Given the description of an element on the screen output the (x, y) to click on. 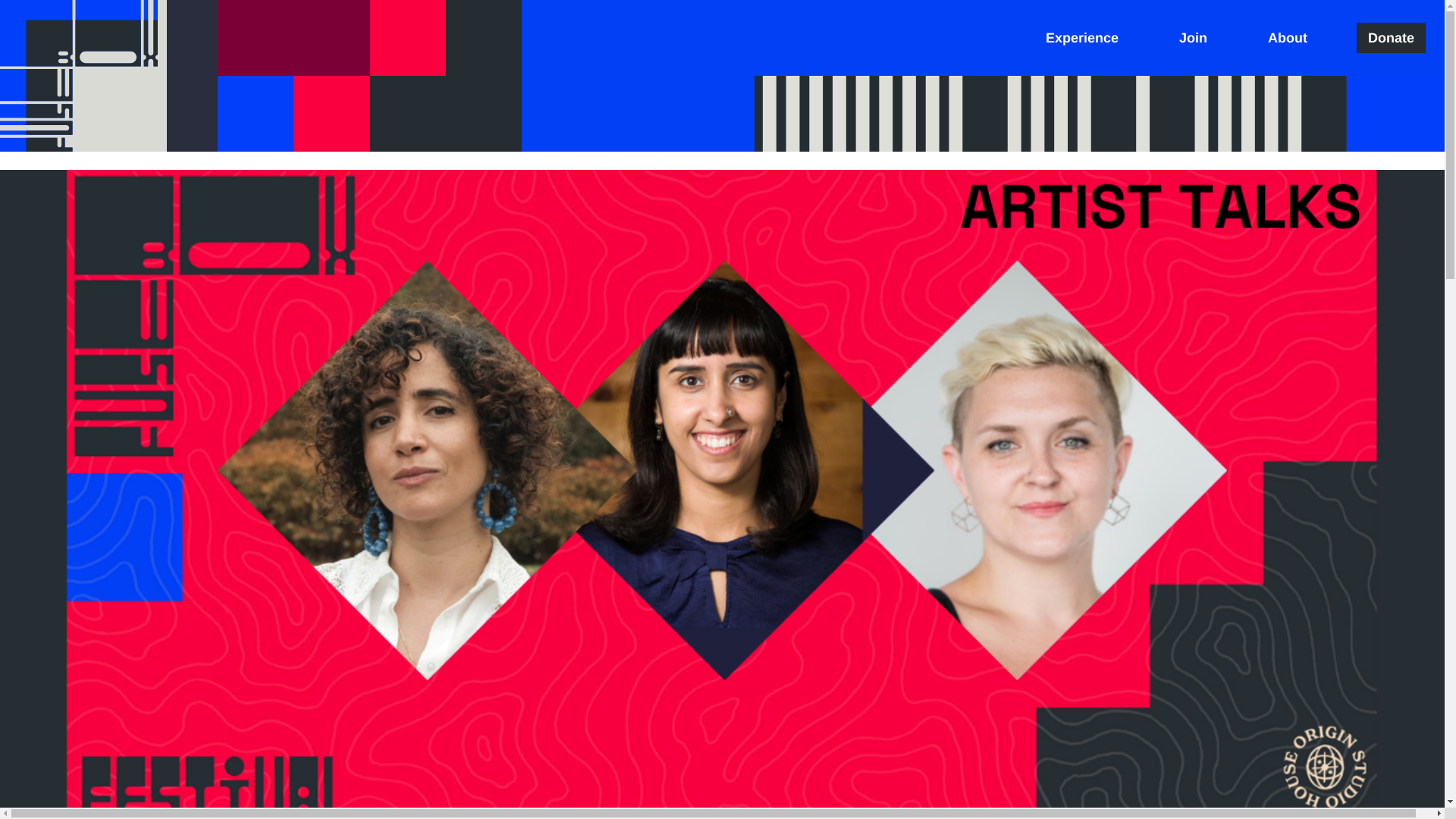
Donate (1390, 37)
Join (1192, 37)
Fusebox (83, 75)
Fusebox (83, 75)
Experience (1081, 37)
About (1287, 37)
